Given the description of an element on the screen output the (x, y) to click on. 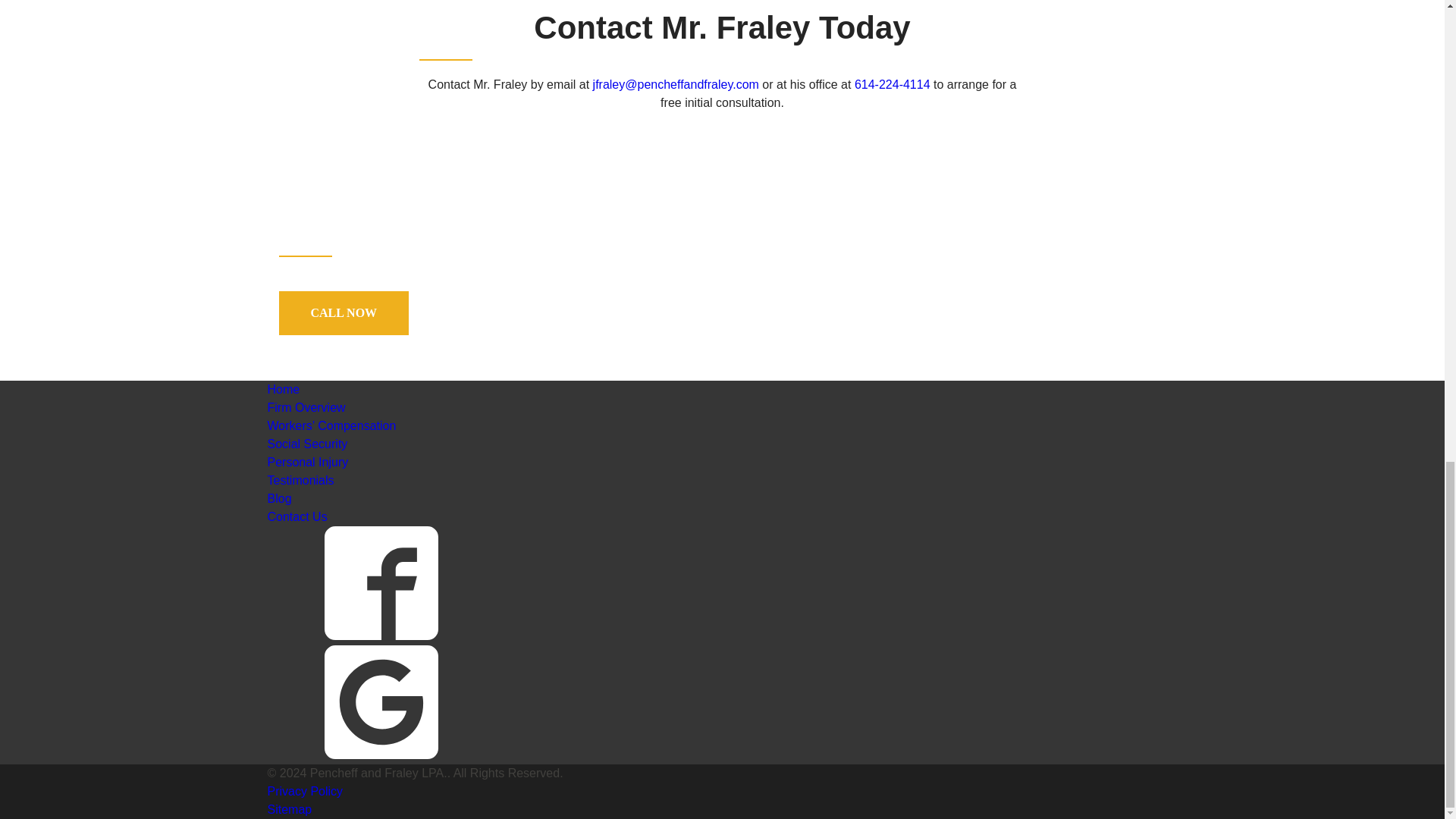
google (380, 754)
facebook (380, 635)
facebook (380, 582)
google (380, 702)
